Given the description of an element on the screen output the (x, y) to click on. 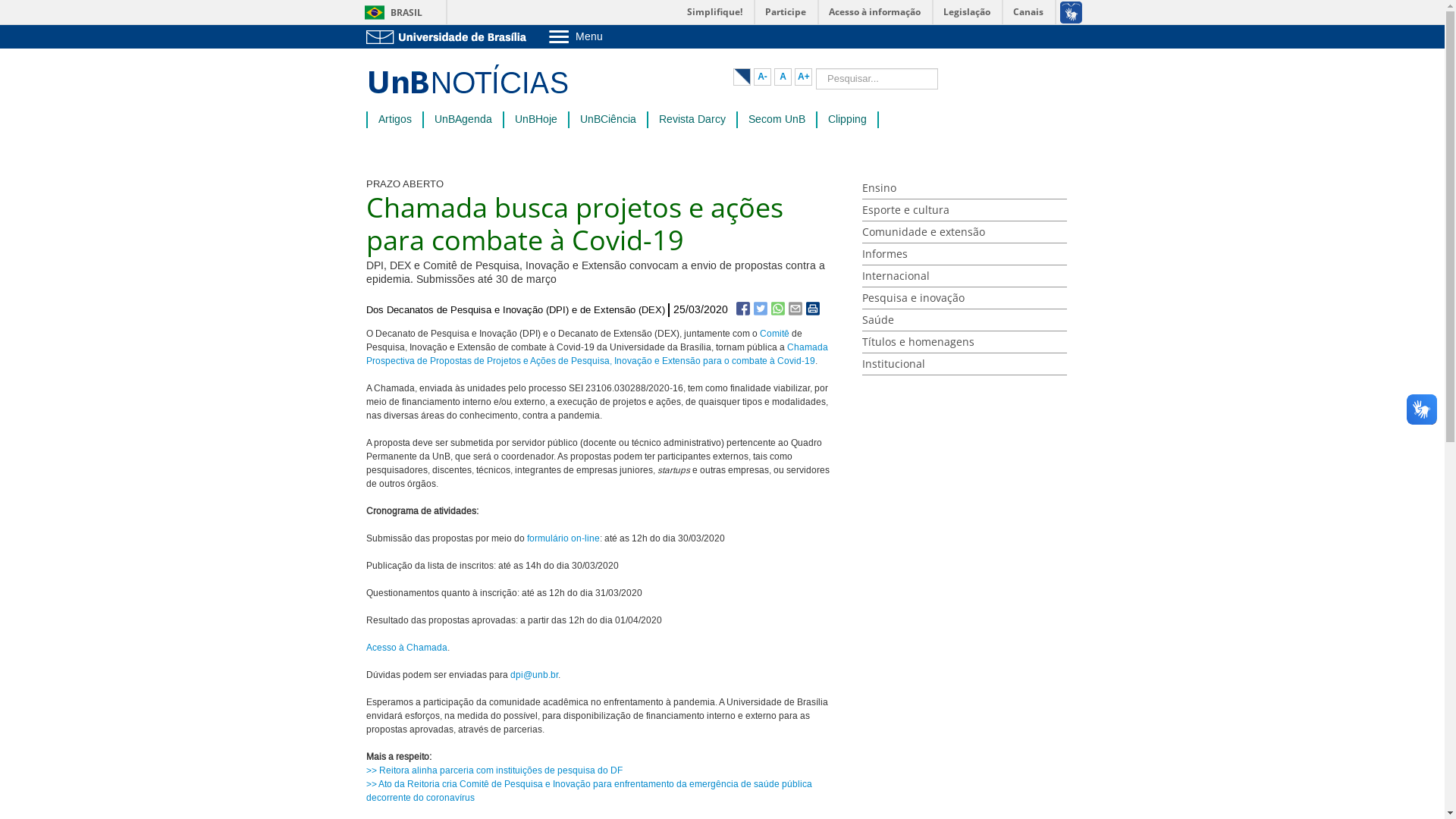
A+ Element type: text (803, 76)
BRASIL Element type: text (389, 12)
Clipping Element type: text (847, 119)
Esporte e cultura Element type: text (964, 210)
UnBAgenda Element type: text (462, 119)
Secom UnB Element type: text (776, 119)
Informes Element type: text (964, 254)
dpi@unb.br Element type: text (533, 674)
Ir para o Portal da UnB Element type: hover (448, 36)
A Element type: text (782, 76)
Institucional Element type: text (964, 364)
Revista Darcy Element type: text (691, 119)
Ensino Element type: text (964, 188)
Menu Element type: text (613, 35)
UnBHoje Element type: text (535, 119)
A- Element type: text (762, 76)
Internacional Element type: text (964, 276)
Artigos Element type: text (394, 119)
